Given the description of an element on the screen output the (x, y) to click on. 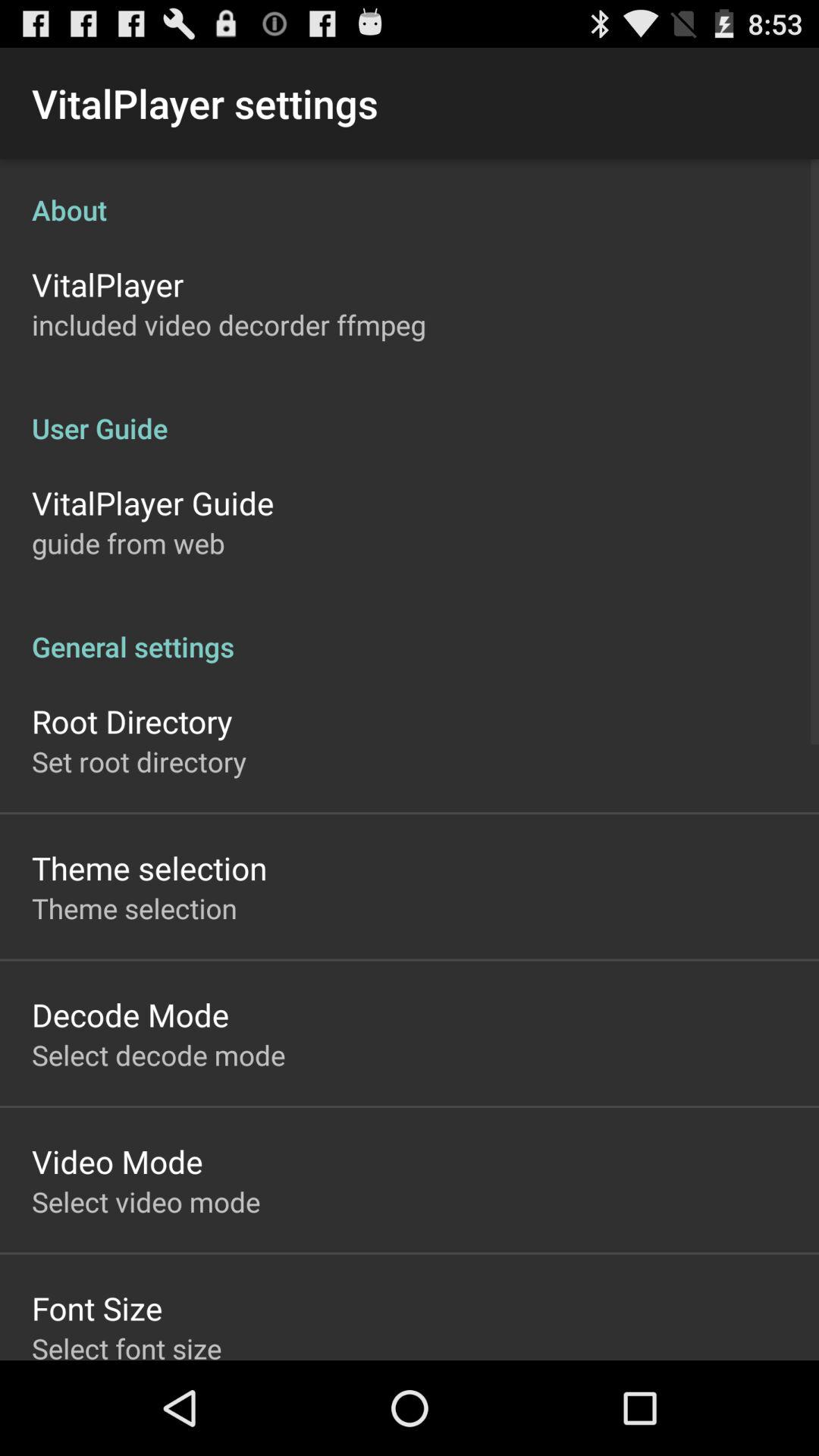
jump to the general settings app (409, 630)
